Given the description of an element on the screen output the (x, y) to click on. 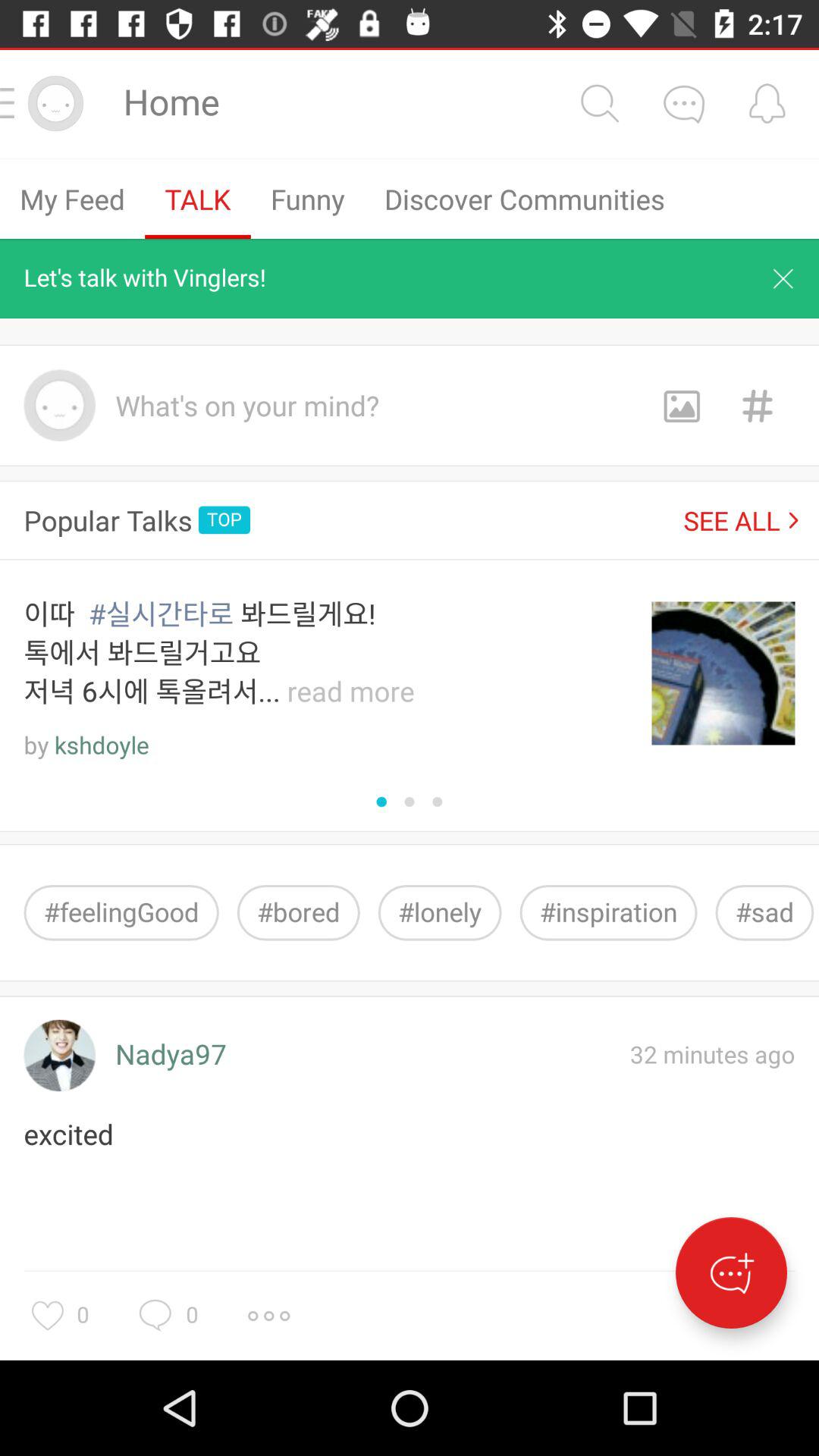
press the icon below 32 minutes ago (731, 1272)
